Given the description of an element on the screen output the (x, y) to click on. 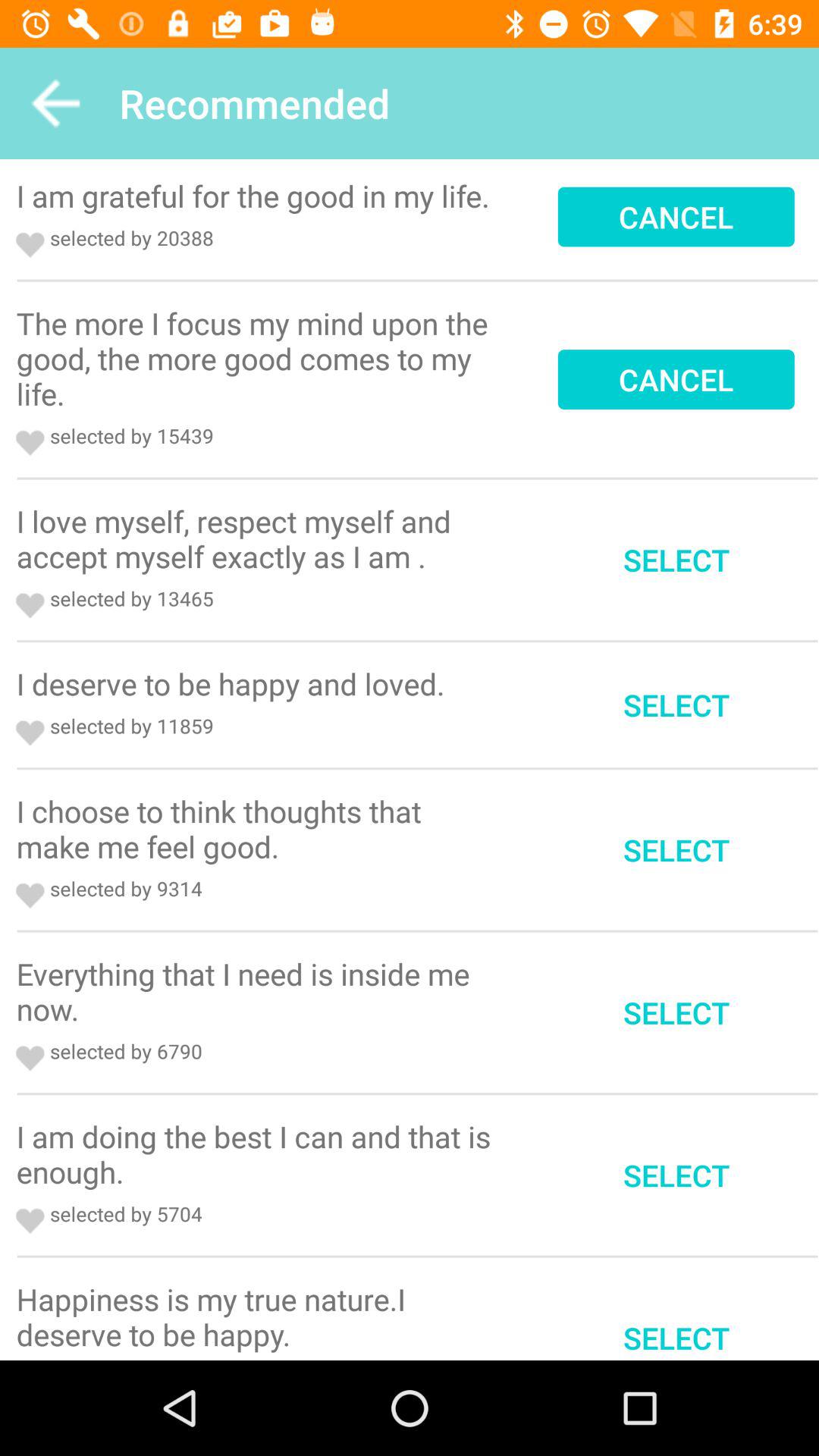
turn off the icon next to select (258, 538)
